Given the description of an element on the screen output the (x, y) to click on. 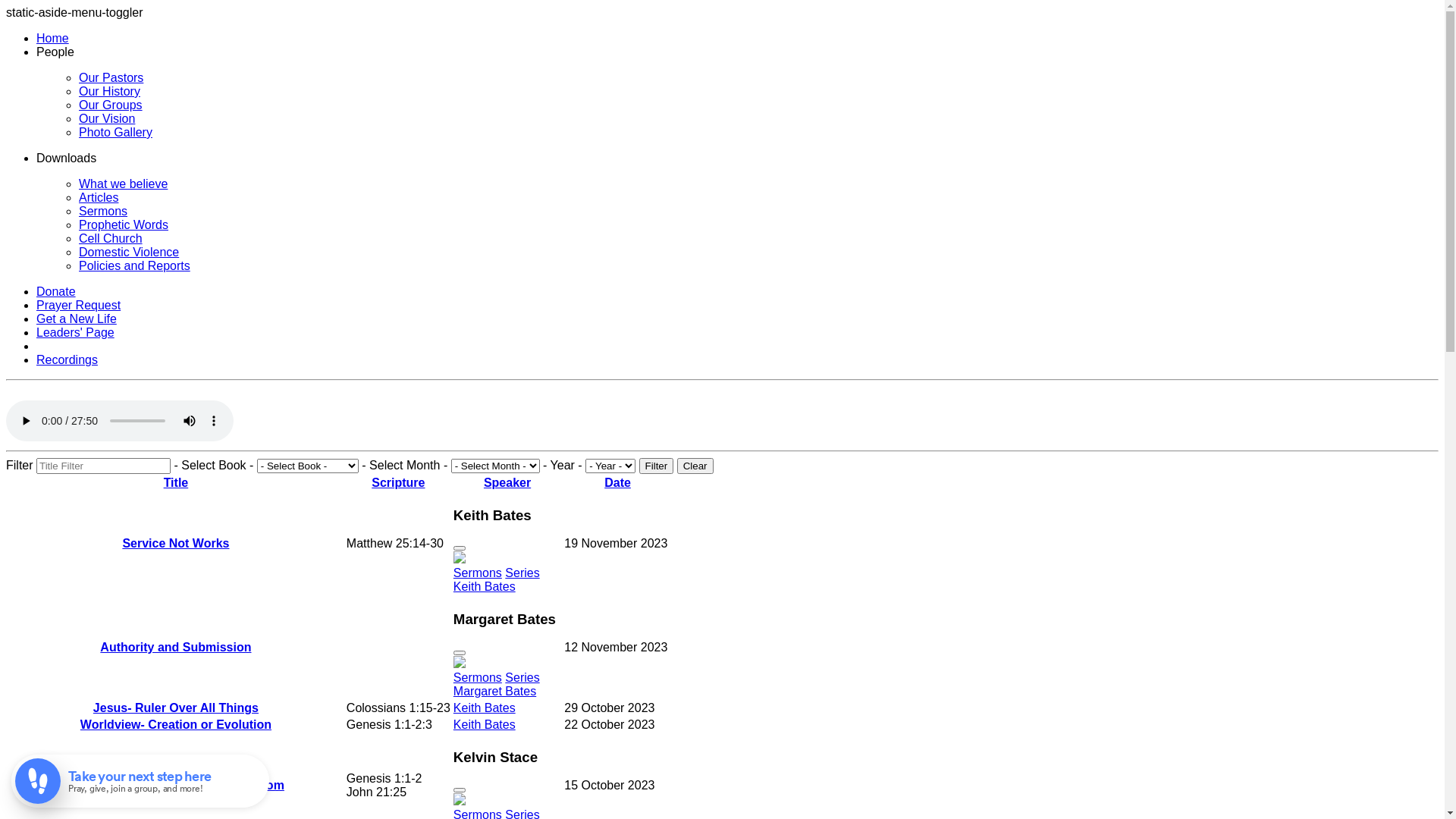
Keith Bates Element type: text (484, 586)
Home Element type: text (52, 37)
Our Groups Element type: text (110, 104)
Our Vision Element type: text (106, 118)
Donate Element type: text (55, 291)
Our Pastors Element type: text (110, 77)
Get a New Life Element type: text (76, 318)
Date Element type: text (617, 482)
Clear Element type: text (695, 465)
Margaret Bates Element type: text (494, 690)
Authority and Submission Element type: text (175, 646)
Keith Bates Element type: text (484, 707)
Articles Element type: text (98, 197)
Sermons Element type: text (102, 210)
Worldview- Creation or Evolution Element type: text (175, 724)
Recordings Element type: text (66, 359)
Domestic Violence Element type: text (128, 251)
Filter Element type: text (656, 465)
Leaders' Page Element type: text (75, 332)
Prophetic Words Element type: text (123, 224)
Your Hands Work Fpr God's Kingdom Element type: text (175, 784)
Cell Church Element type: text (110, 238)
Title Element type: text (175, 482)
Policies and Reports Element type: text (134, 265)
Photo Gallery Element type: text (115, 131)
What we believe Element type: text (122, 183)
Service Not Works Element type: text (175, 542)
Jesus- Ruler Over All Things Element type: text (175, 707)
Speaker Element type: text (506, 482)
Sermons Element type: text (477, 572)
Keith Bates Element type: text (484, 724)
Scripture Element type: text (397, 482)
Sermons Element type: text (477, 677)
Our History Element type: text (109, 90)
Series Element type: text (522, 572)
Prayer Request Element type: text (78, 304)
Series Element type: text (522, 677)
